Given the description of an element on the screen output the (x, y) to click on. 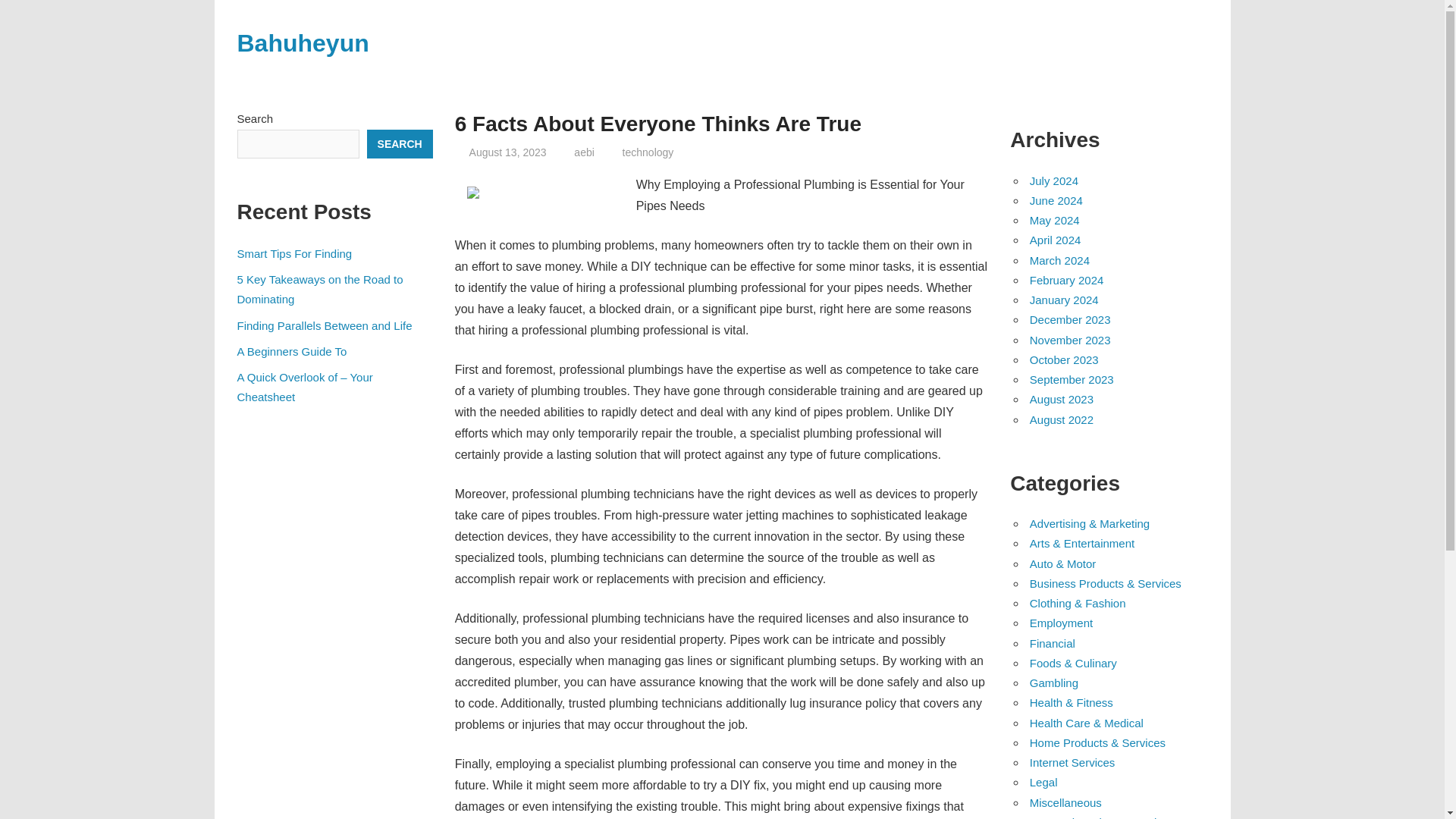
5 Key Takeaways on the Road to Dominating (319, 288)
Smart Tips For Finding (293, 253)
technology (648, 152)
11:07 am (507, 152)
Gambling (1053, 682)
July 2024 (1053, 180)
A Beginners Guide To (290, 350)
Bahuheyun (301, 42)
March 2024 (1059, 259)
August 2022 (1061, 419)
August 13, 2023 (507, 152)
June 2024 (1056, 200)
September 2023 (1071, 379)
October 2023 (1064, 359)
April 2024 (1055, 239)
